Given the description of an element on the screen output the (x, y) to click on. 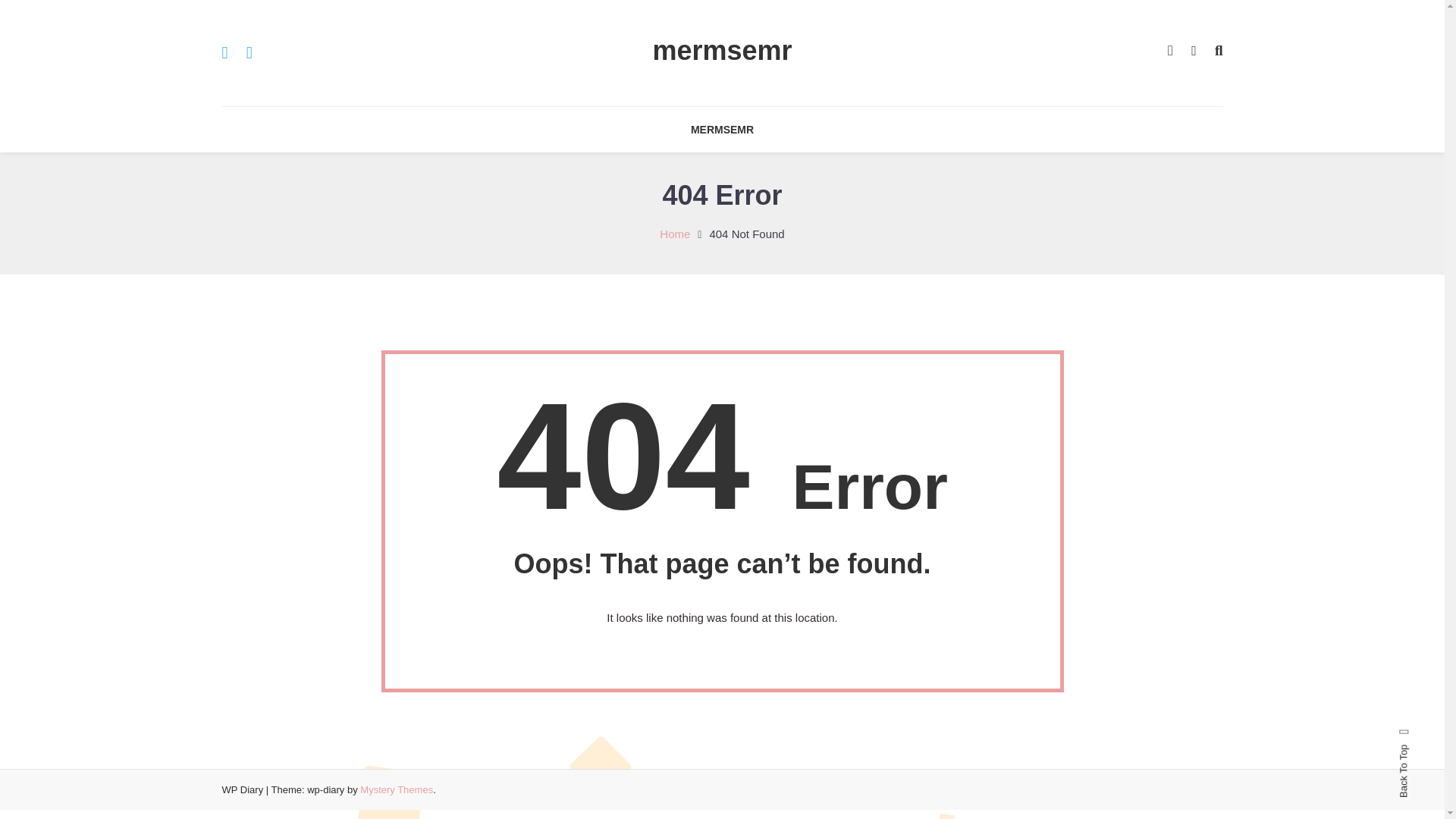
Search (768, 432)
mermsemr (722, 50)
MERMSEMR (721, 129)
Mystery Themes (395, 789)
Home (674, 233)
